Given the description of an element on the screen output the (x, y) to click on. 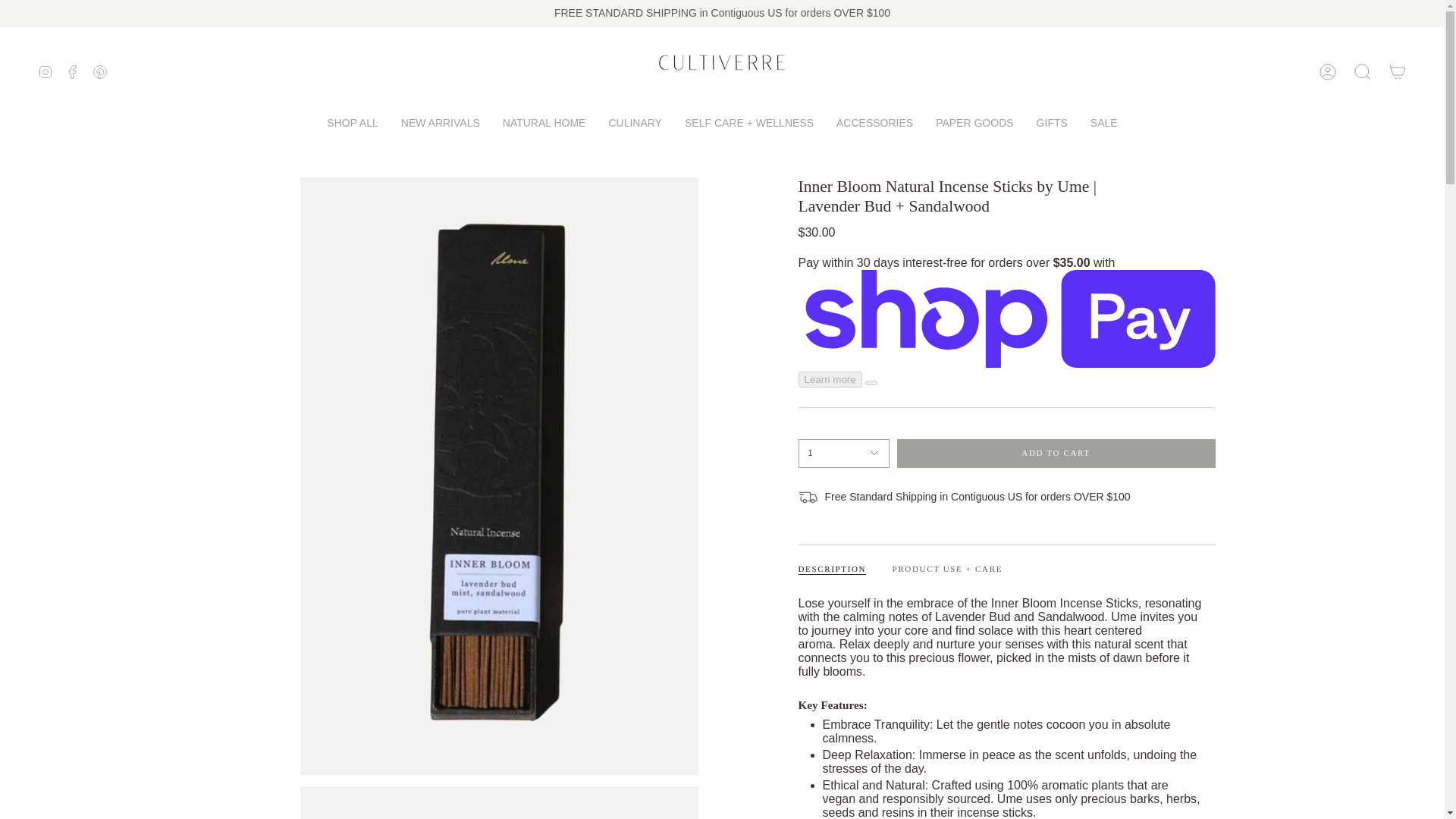
SHOP ALL (351, 122)
NATURAL HOME (544, 122)
My Account (1327, 71)
PAPER GOODS (974, 122)
Instagram (44, 70)
Search (1362, 71)
GIFTS (1051, 122)
Cart (1397, 71)
SALE (1103, 122)
Pinterest (100, 70)
Cultiverre on Facebook (72, 70)
Cultiverre on Instagram (44, 70)
Cultiverre on Pinterest (100, 70)
NEW ARRIVALS (441, 122)
Account (1327, 71)
